Given the description of an element on the screen output the (x, y) to click on. 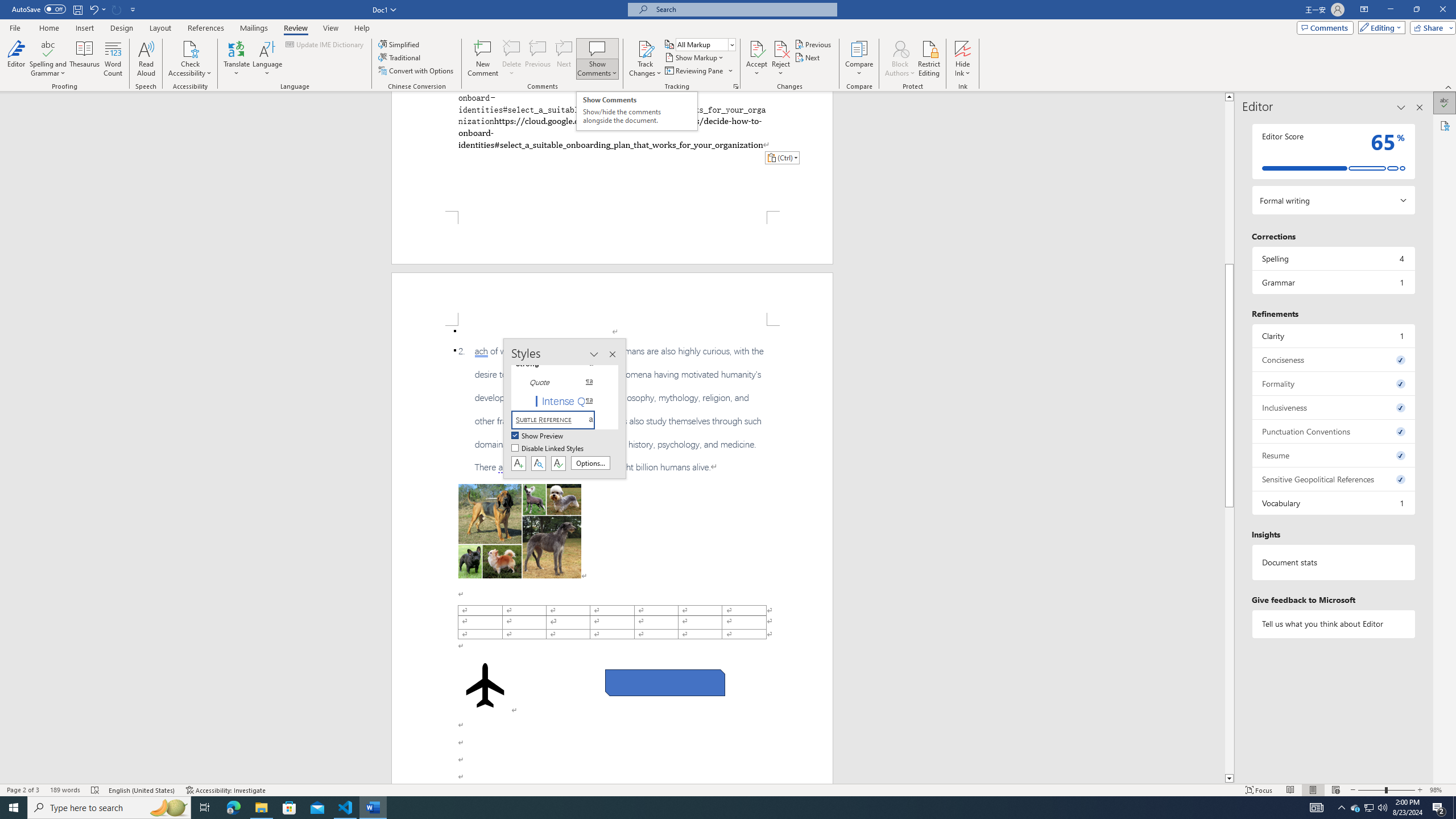
Document statistics (1333, 561)
Action: Paste alternatives (781, 157)
Hide Ink (962, 48)
Quote (559, 382)
Accept (756, 58)
